Given the description of an element on the screen output the (x, y) to click on. 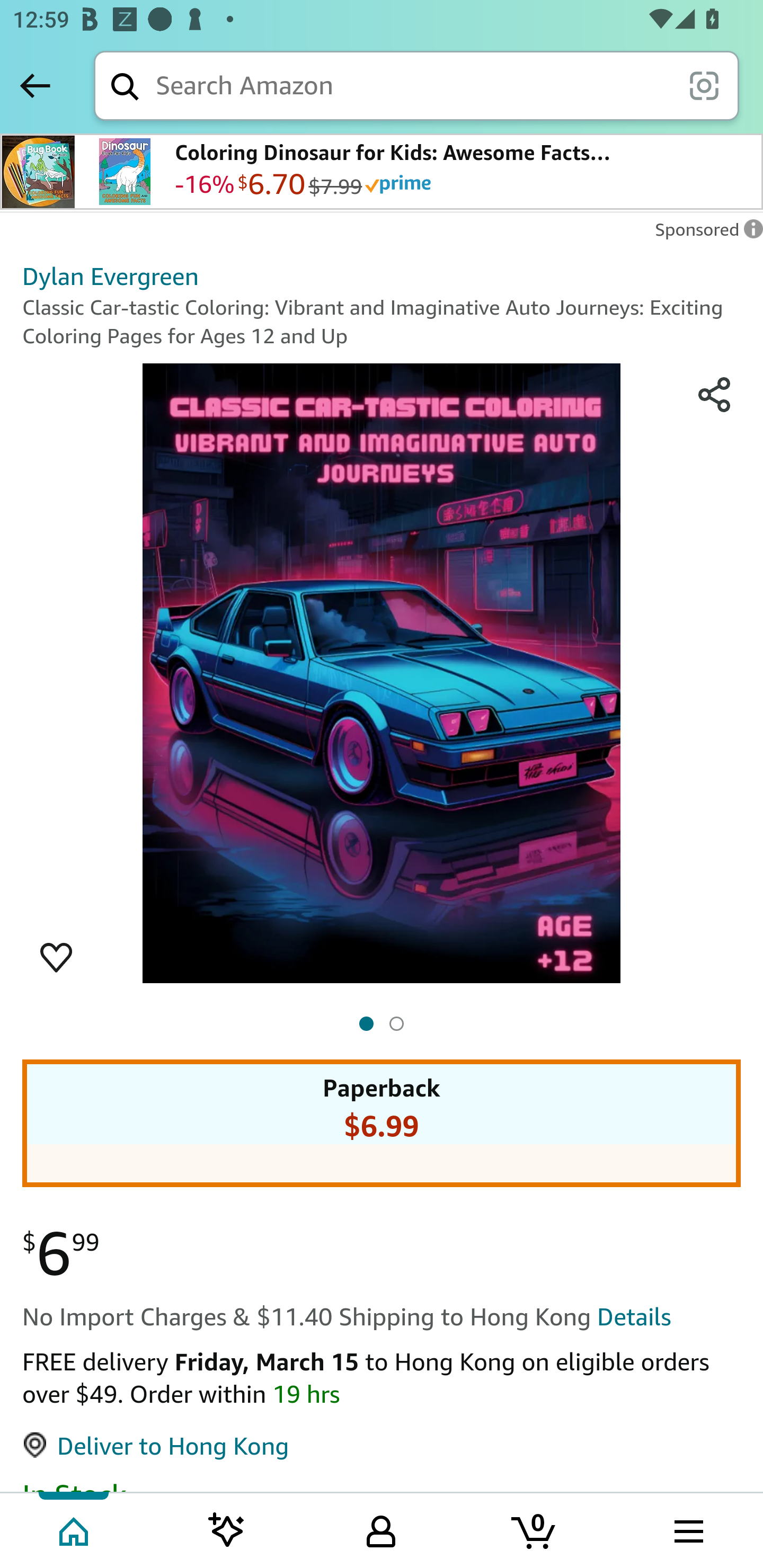
Back (35, 85)
Search Search Search Amazon scan it (416, 85)
scan it (704, 85)
Leave feedback on Sponsored ad Sponsored  (703, 234)
Dylan Evergreen (110, 275)
Heart to save an item to your default list (56, 956)
Paperback $6.99  Paperback $6.99 (381, 1103)
Details (633, 1316)
Deliver to Hong Kong (155, 1445)
Home Tab 1 of 5 (75, 1529)
Inspire feed Tab 2 of 5 (227, 1529)
Your Amazon.com Tab 3 of 5 (380, 1529)
Cart 0 item Tab 4 of 5 0 (534, 1529)
Browse menu Tab 5 of 5 (687, 1529)
